Given the description of an element on the screen output the (x, y) to click on. 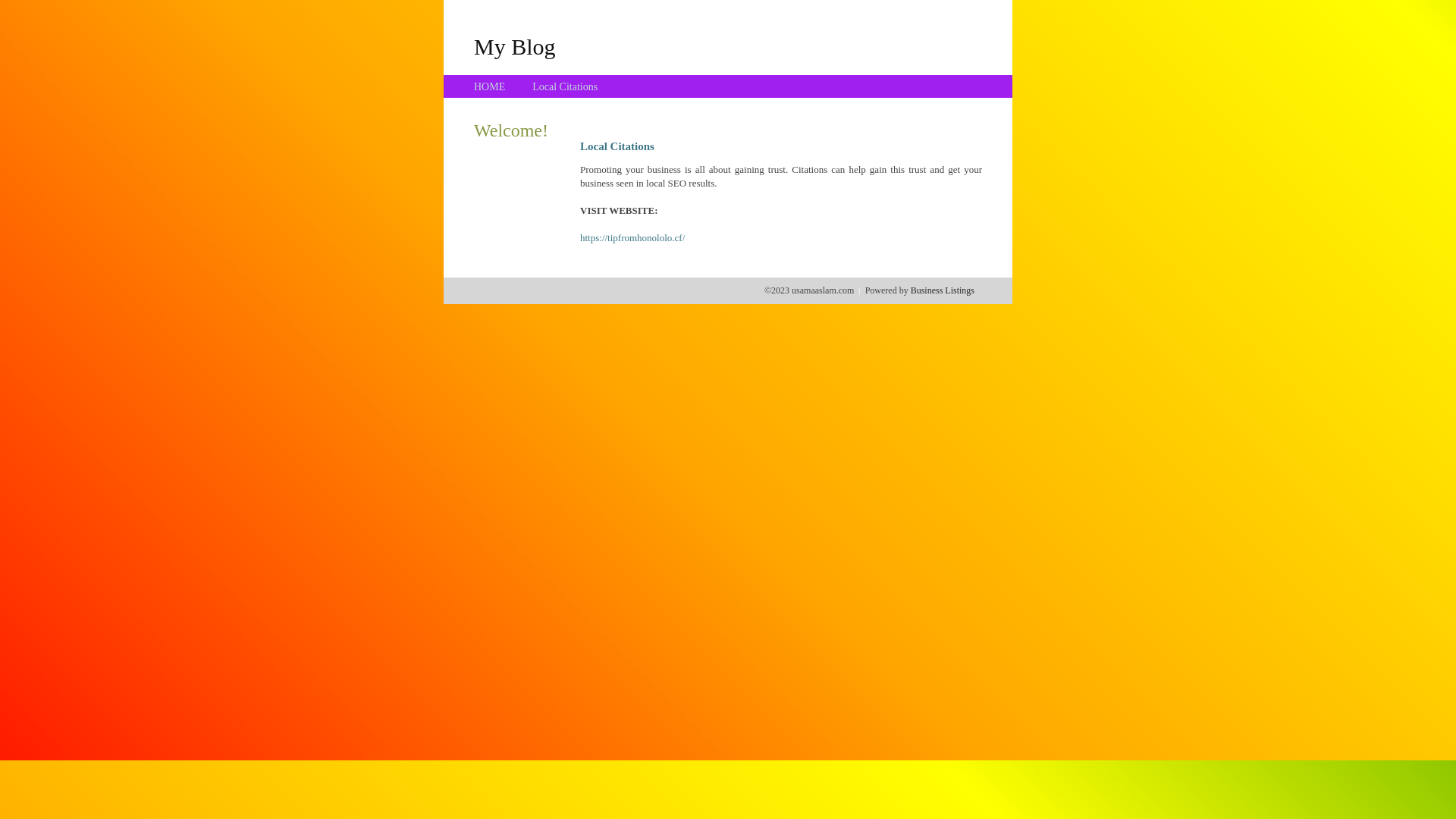
HOME Element type: text (489, 86)
My Blog Element type: text (514, 46)
https://tipfromhonololo.cf/ Element type: text (632, 237)
Local Citations Element type: text (564, 86)
Business Listings Element type: text (942, 290)
